Given the description of an element on the screen output the (x, y) to click on. 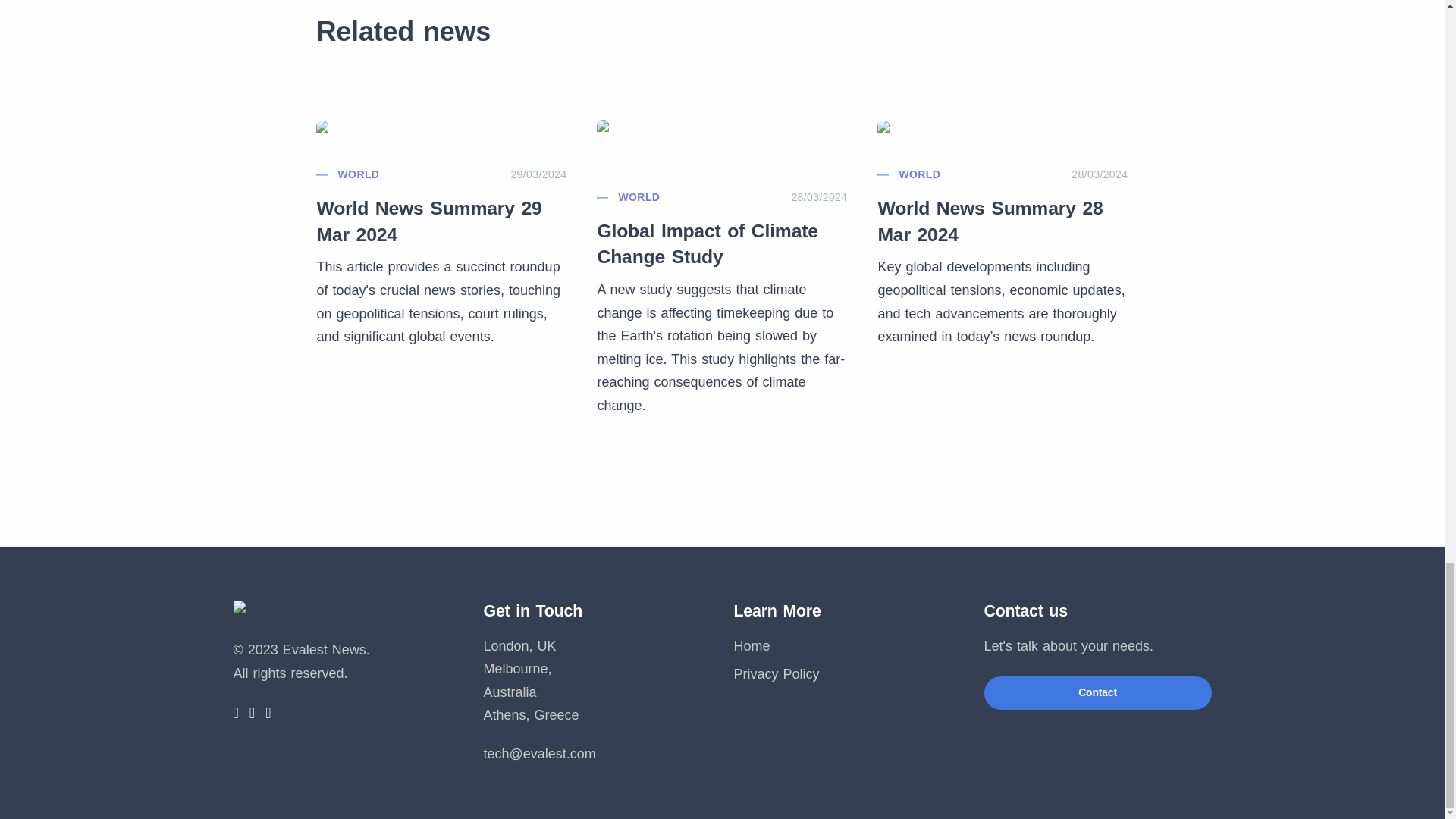
Privacy Policy (776, 673)
Home (751, 645)
Contact (1097, 693)
